Given the description of an element on the screen output the (x, y) to click on. 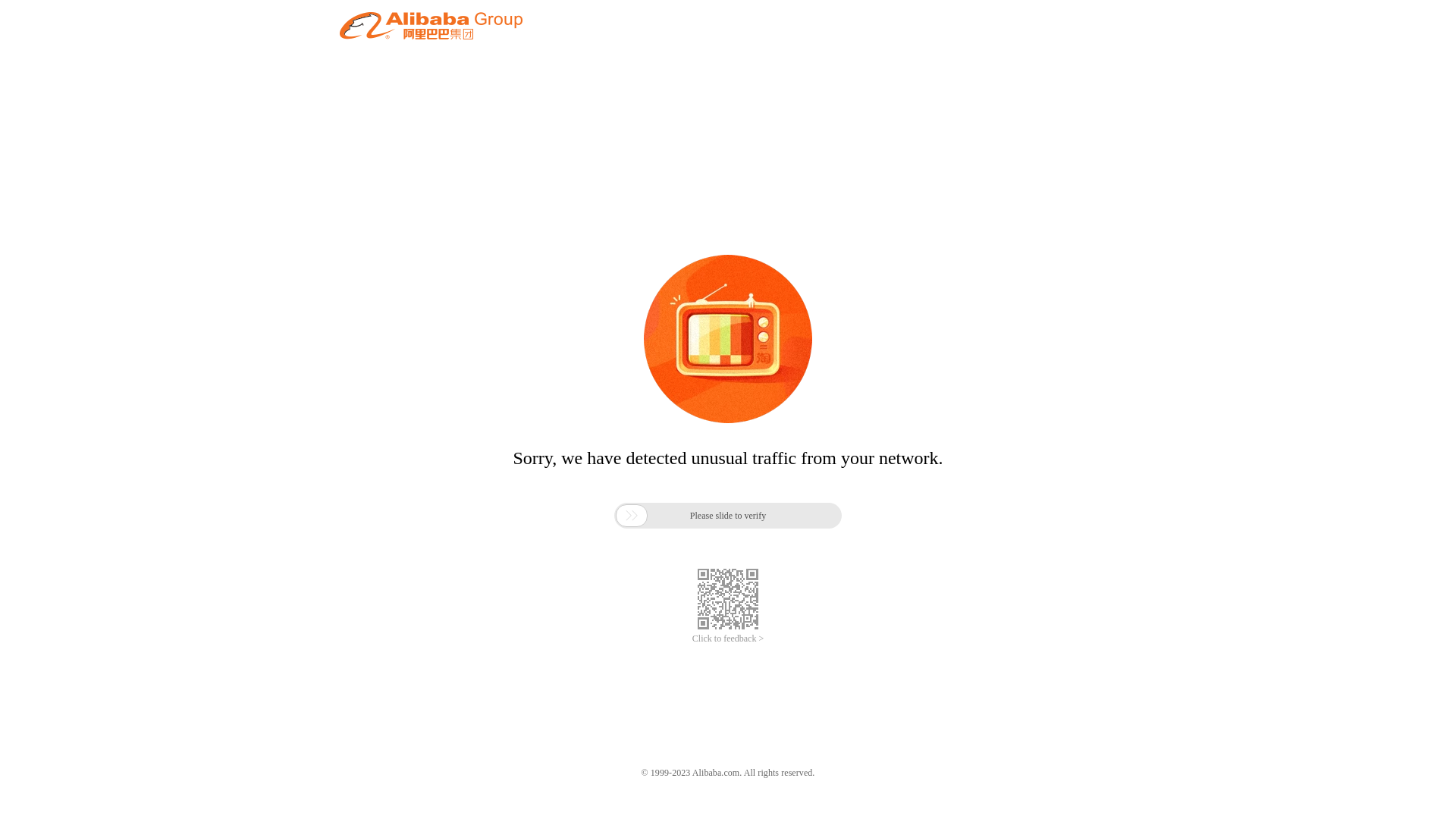
Click to feedback > Element type: text (727, 638)
